Given the description of an element on the screen output the (x, y) to click on. 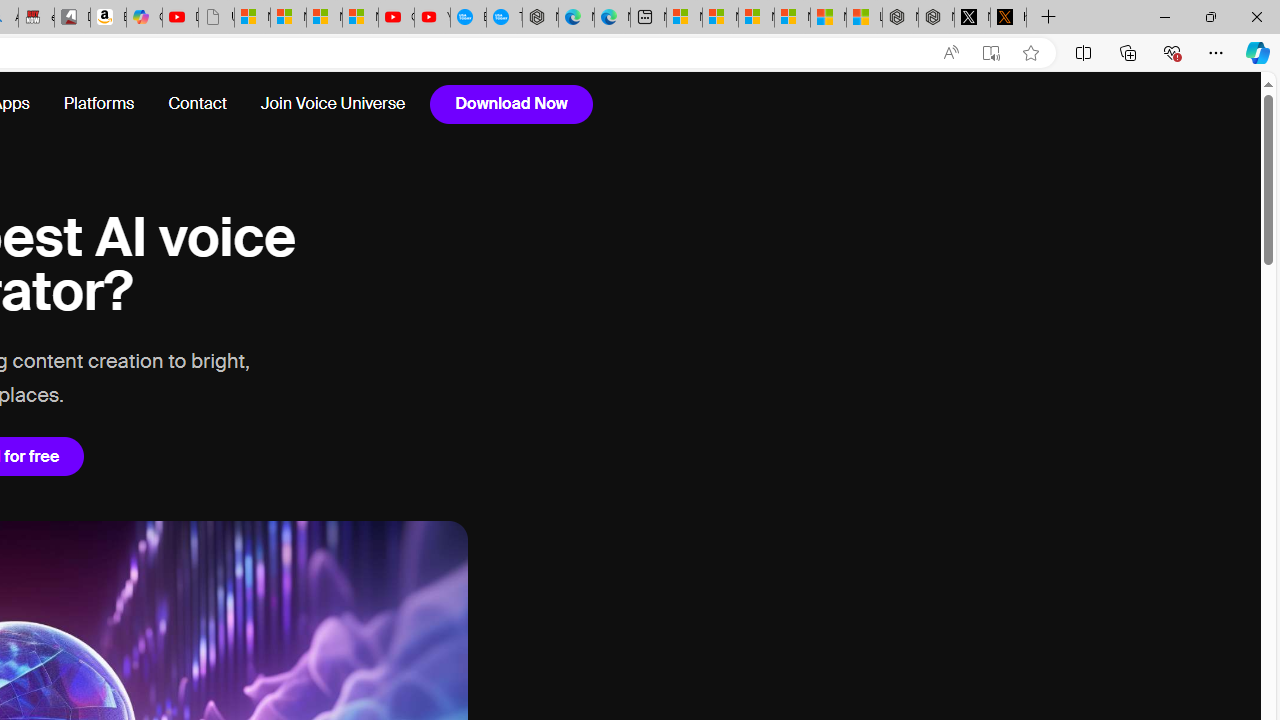
Copilot (144, 17)
Enter Immersive Reader (F9) (991, 53)
Day 1: Arriving in Yemen (surreal to be here) - YouTube (180, 17)
Join Voice Universe (324, 103)
Contact (197, 103)
Untitled (216, 17)
